Given the description of an element on the screen output the (x, y) to click on. 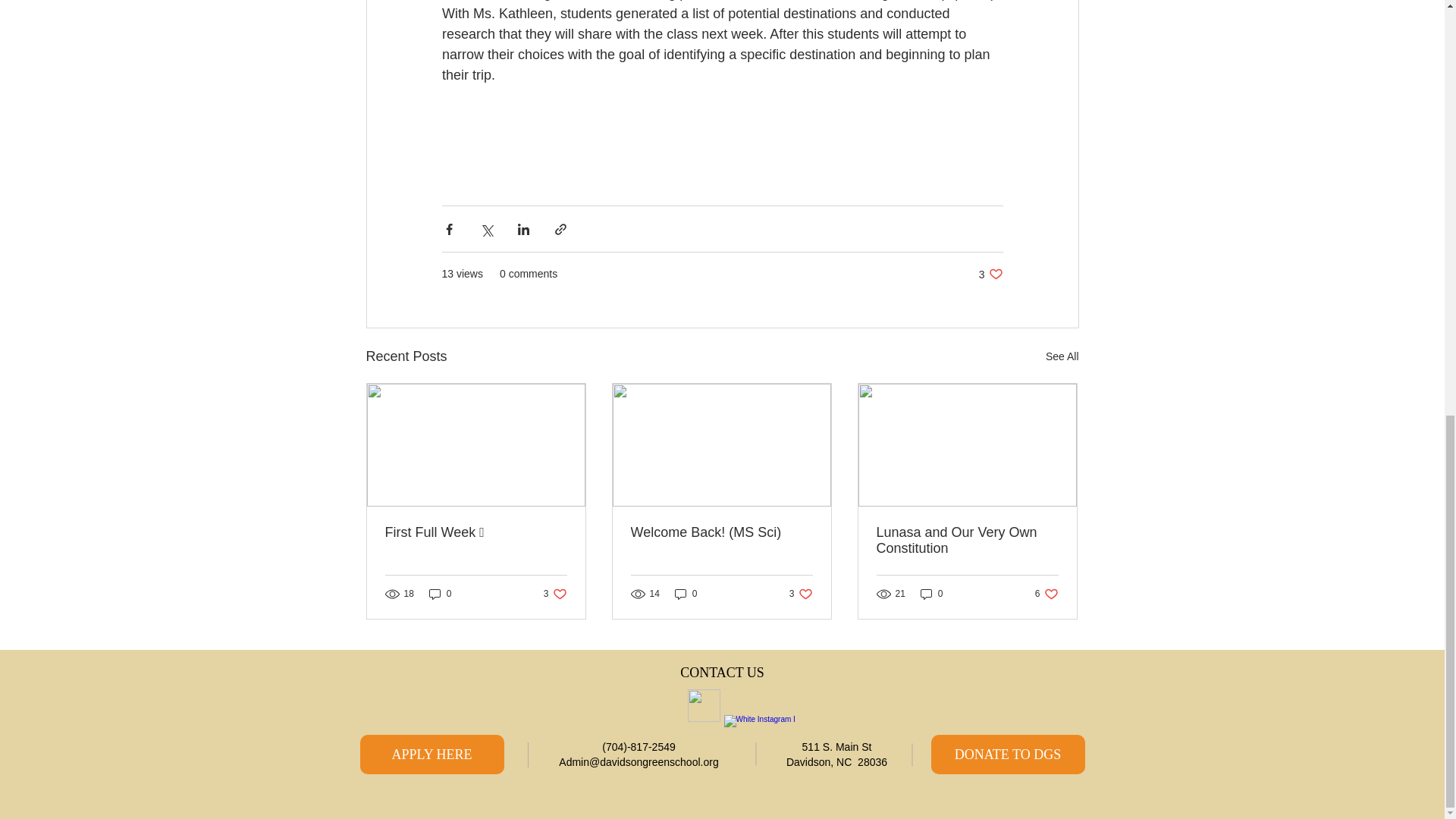
0 (990, 273)
See All (440, 594)
